Given the description of an element on the screen output the (x, y) to click on. 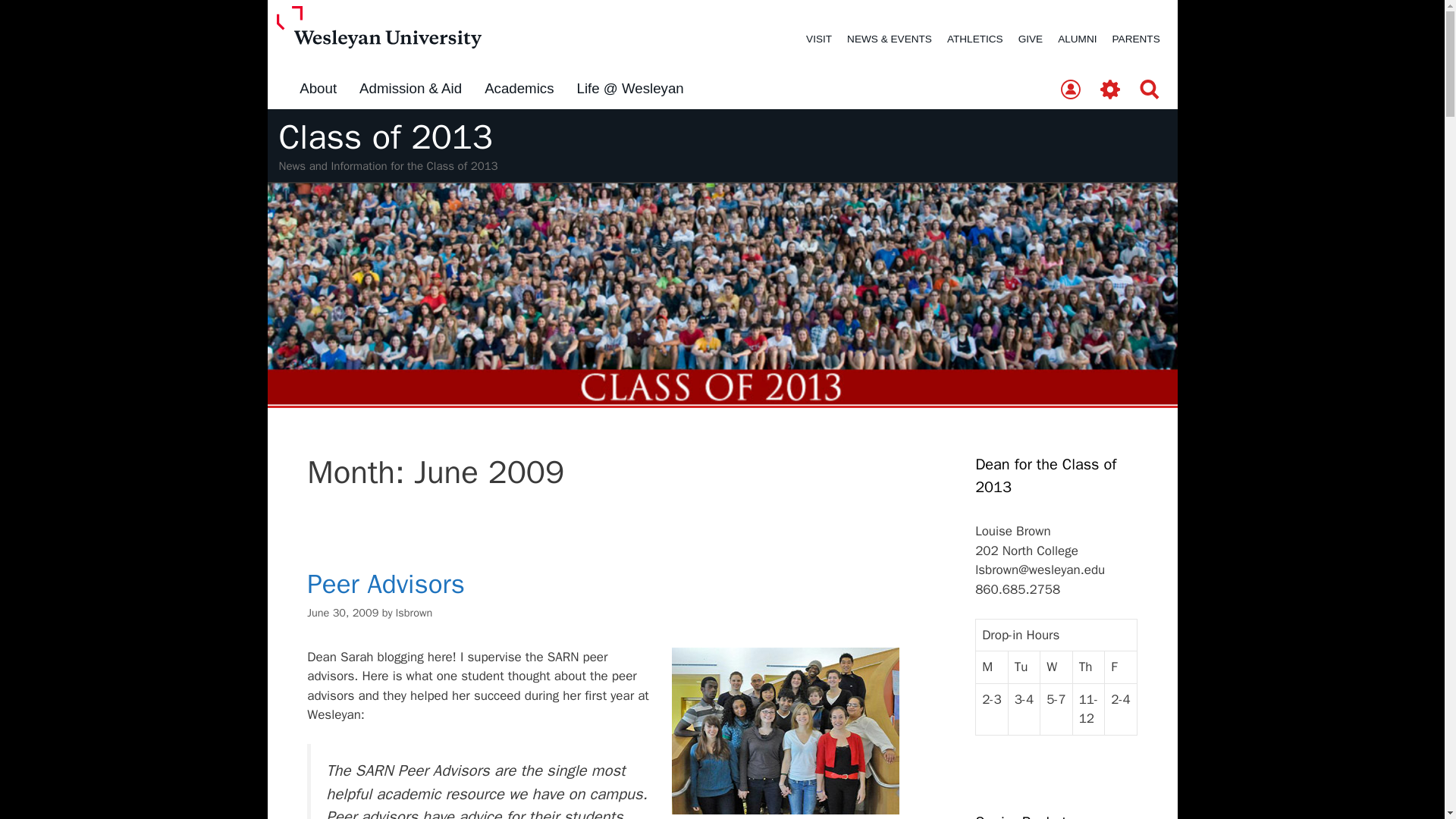
About (317, 89)
Tools (1109, 90)
PARENTS (1136, 39)
lsbrown (414, 612)
Peer Advisors (385, 583)
GIVE (1029, 39)
ATHLETICS (974, 39)
Class of 2013 (386, 137)
Directory (1069, 90)
Search (1149, 90)
ALUMNI (1076, 39)
Academics (518, 89)
View all posts by lsbrown (414, 612)
VISIT (818, 39)
